Given the description of an element on the screen output the (x, y) to click on. 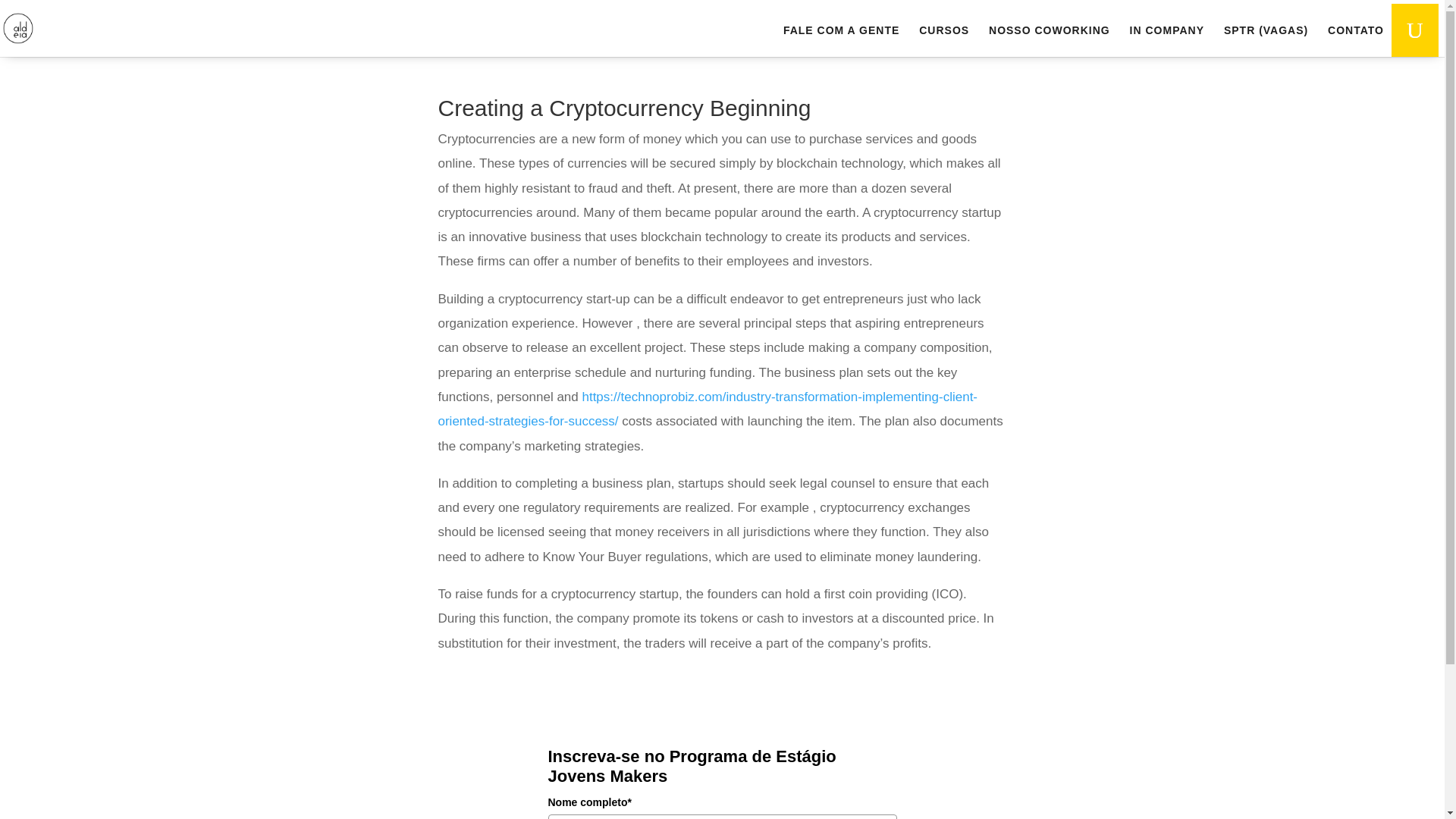
NOSSO COWORKING (1048, 40)
IN COMPANY (1166, 40)
CURSOS (943, 40)
FALE COM A GENTE (841, 40)
CONTATO (1355, 40)
